Given the description of an element on the screen output the (x, y) to click on. 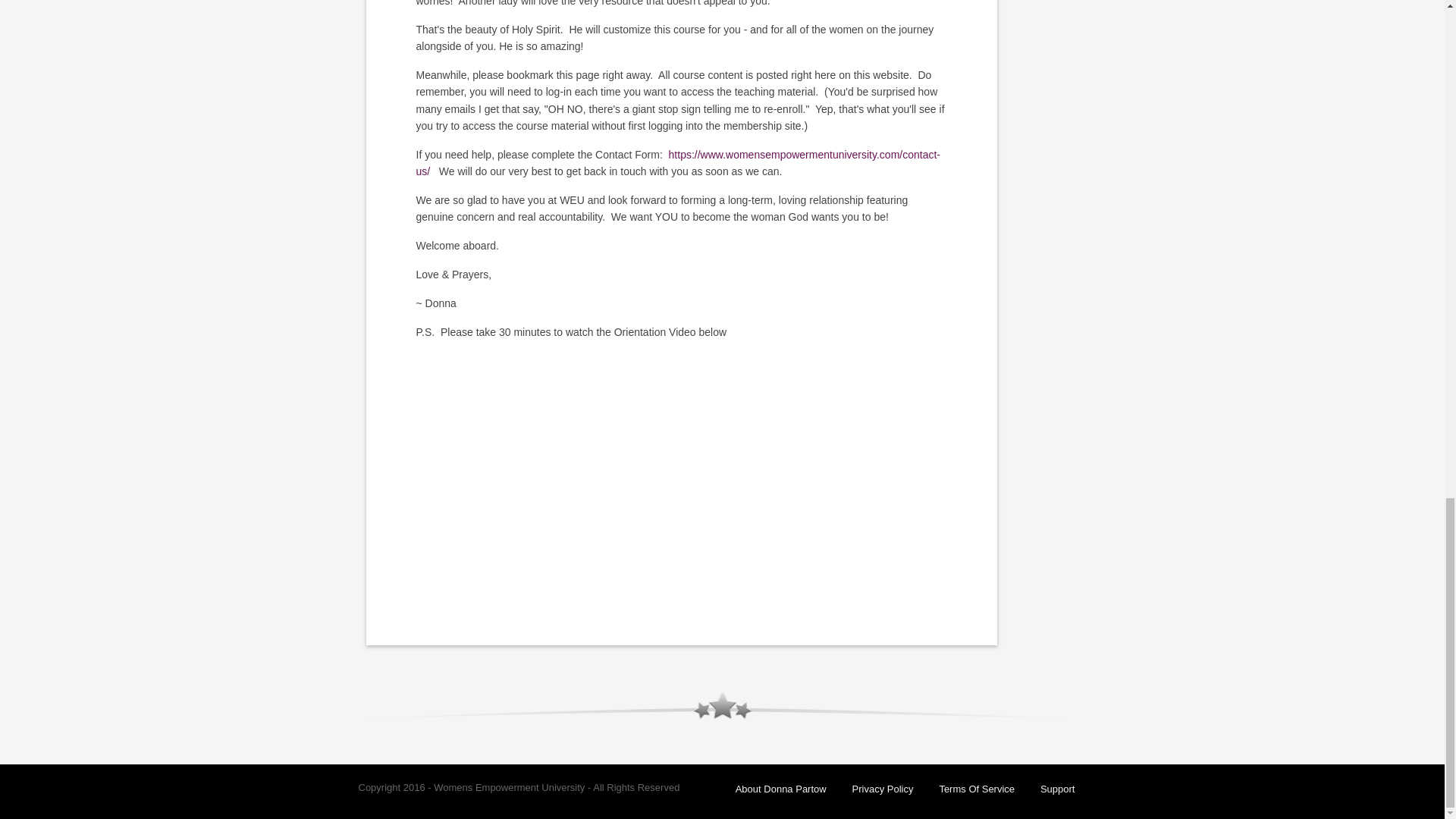
Privacy Policy (882, 788)
About Donna Partow (781, 788)
Support (1058, 788)
Terms Of Service (976, 788)
